Given the description of an element on the screen output the (x, y) to click on. 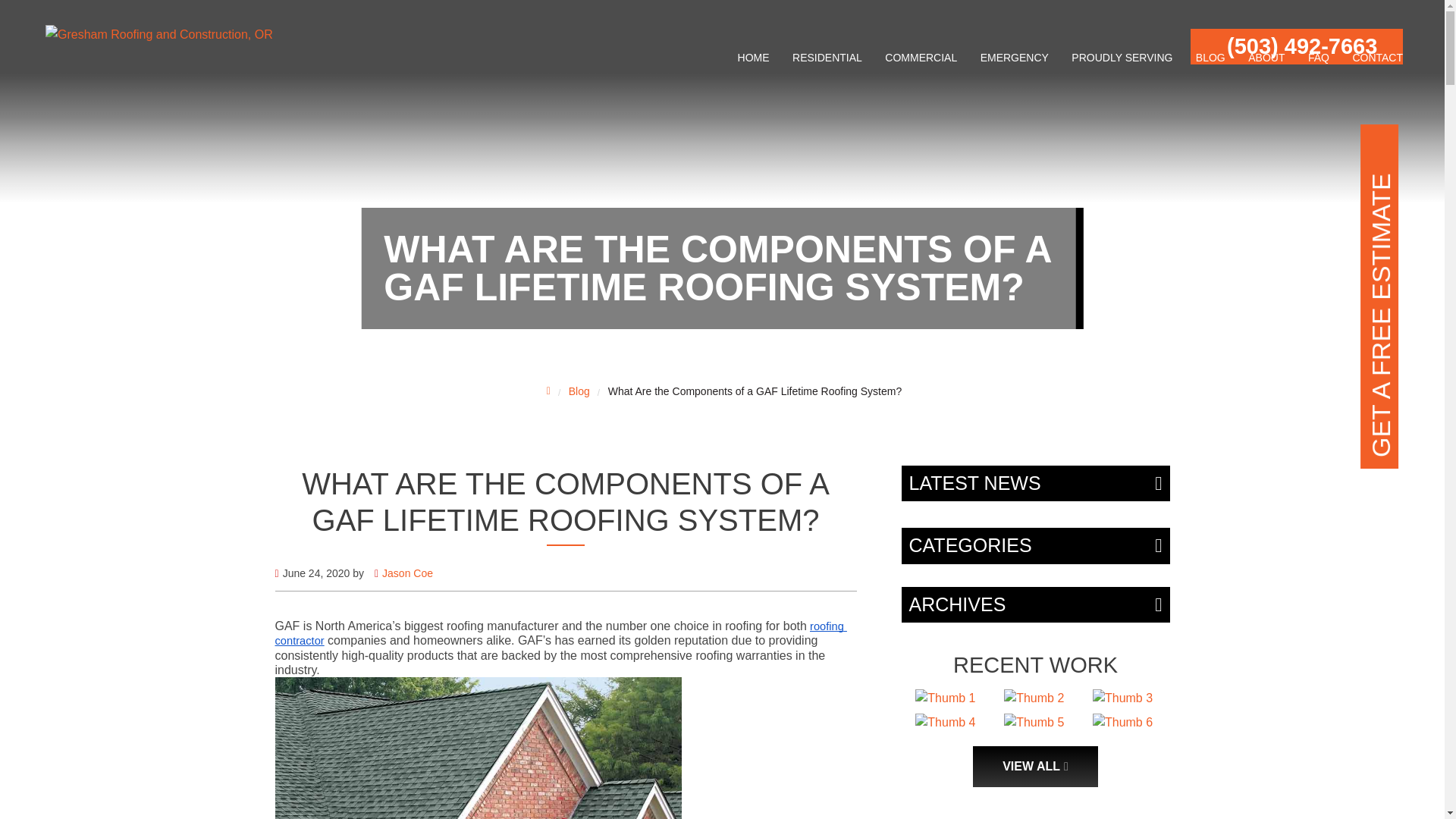
thumb-1 (945, 698)
RESIDENTIAL (826, 57)
EMERGENCY (1014, 57)
COMMERCIAL (920, 57)
thumb-3 (1122, 698)
thumb-4 (945, 722)
thumb-6 (1122, 722)
thumb-2 (1034, 698)
Gresham Roofing and Construction (159, 35)
